Given the description of an element on the screen output the (x, y) to click on. 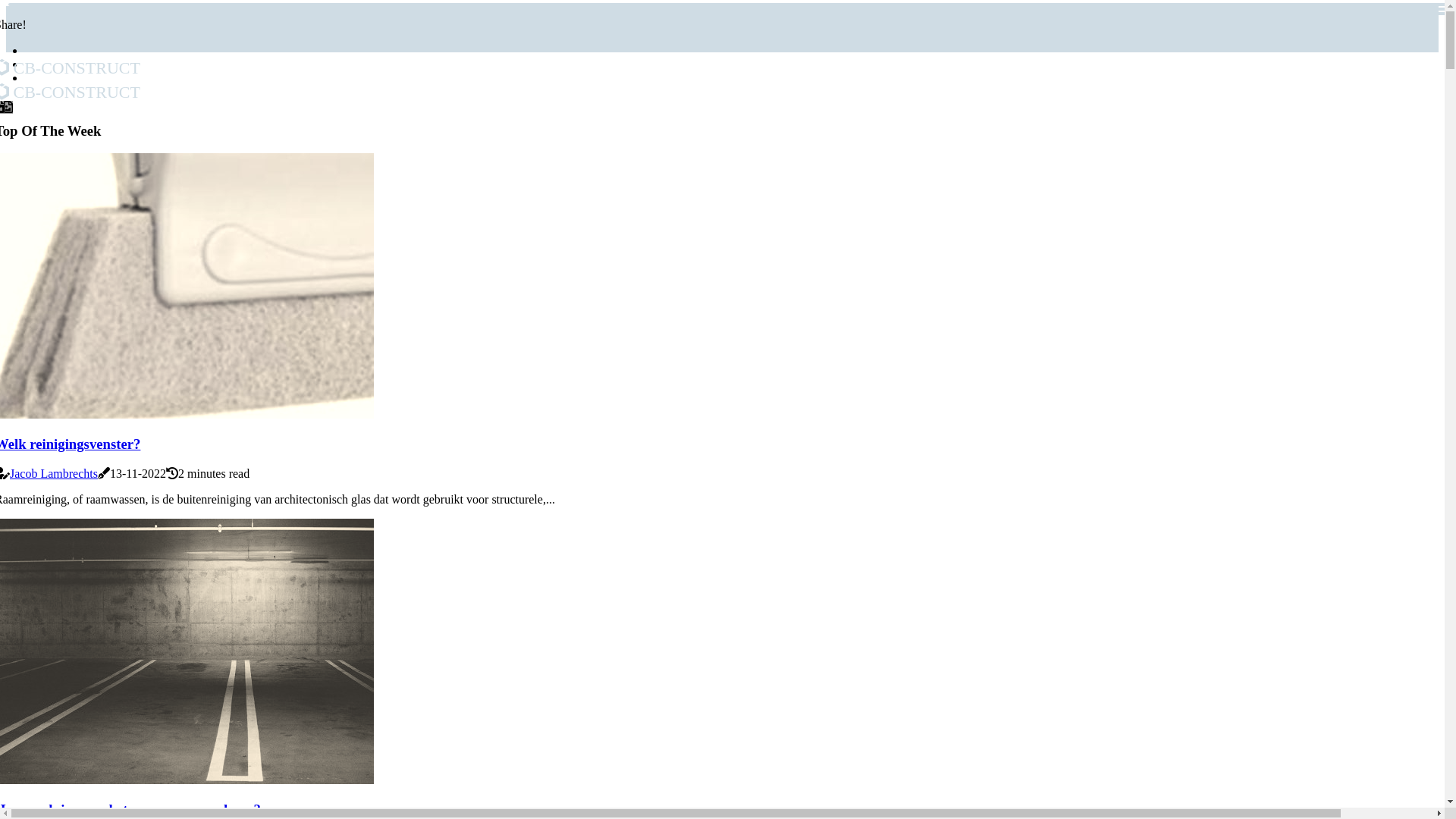
Jacob Lambrechts Element type: text (53, 473)
